Given the description of an element on the screen output the (x, y) to click on. 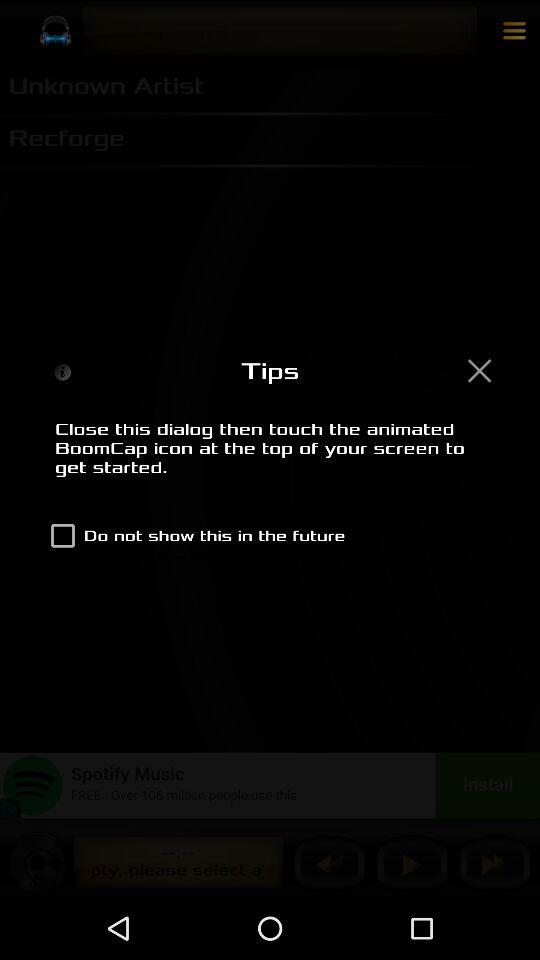
dismiss tip popup (479, 370)
